Given the description of an element on the screen output the (x, y) to click on. 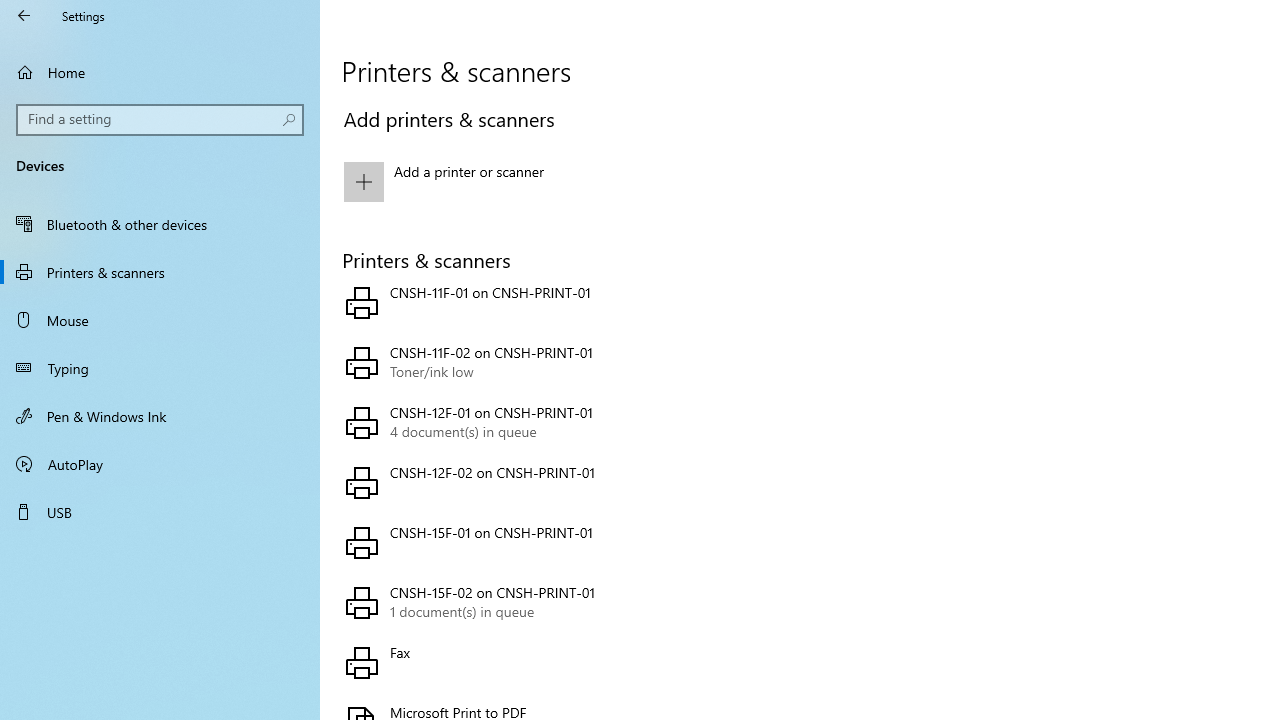
CNSH-11F-02 on CNSH-PRINT-01 Toner/ink low (563, 362)
AutoPlay (160, 463)
CNSH-15F-02 on CNSH-PRINT-01 1 document(s) in queue (563, 602)
